Given the description of an element on the screen output the (x, y) to click on. 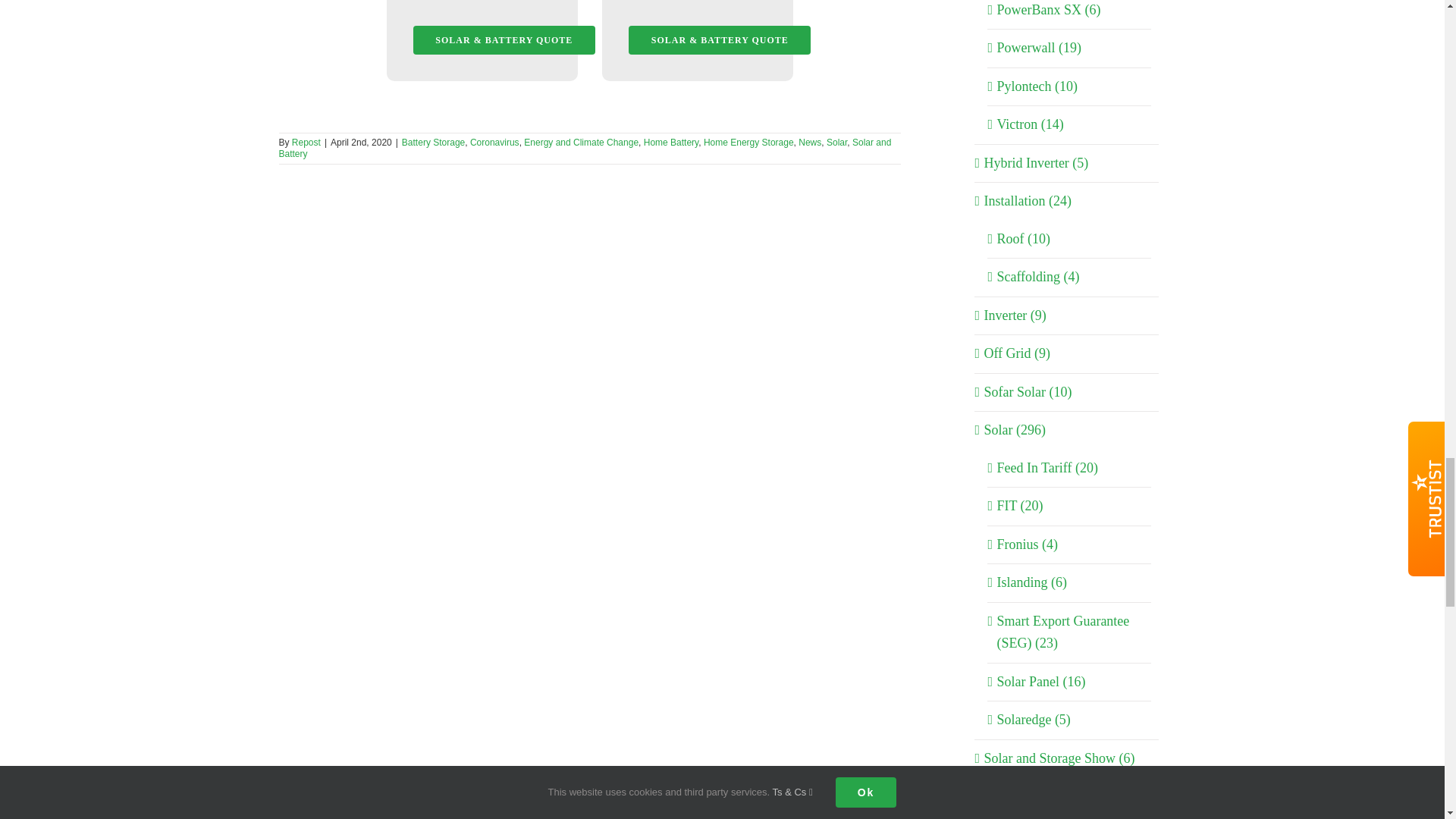
Posts by Repost (306, 142)
